Given the description of an element on the screen output the (x, y) to click on. 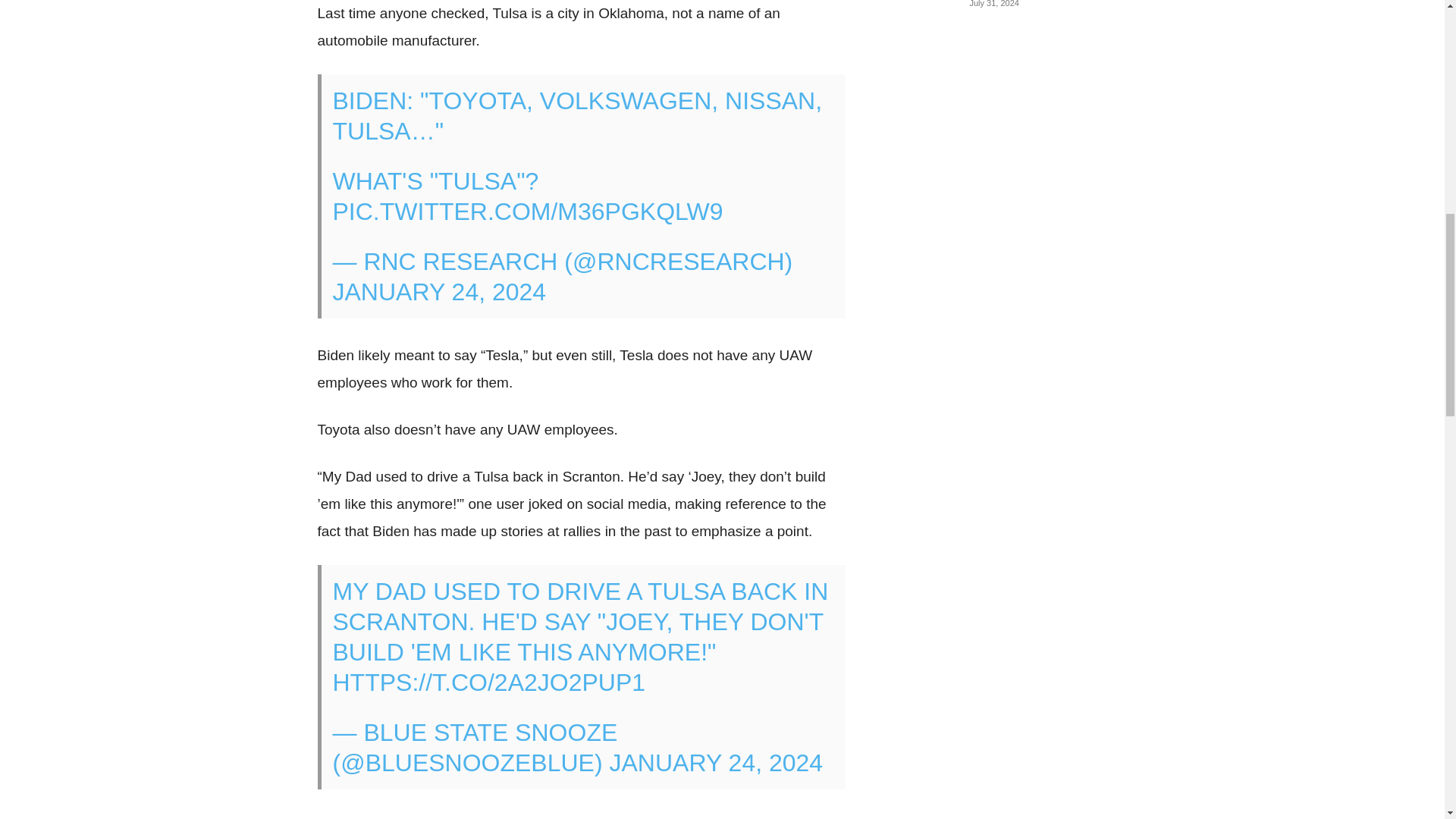
JANUARY 24, 2024 (717, 762)
JANUARY 24, 2024 (438, 291)
